Given the description of an element on the screen output the (x, y) to click on. 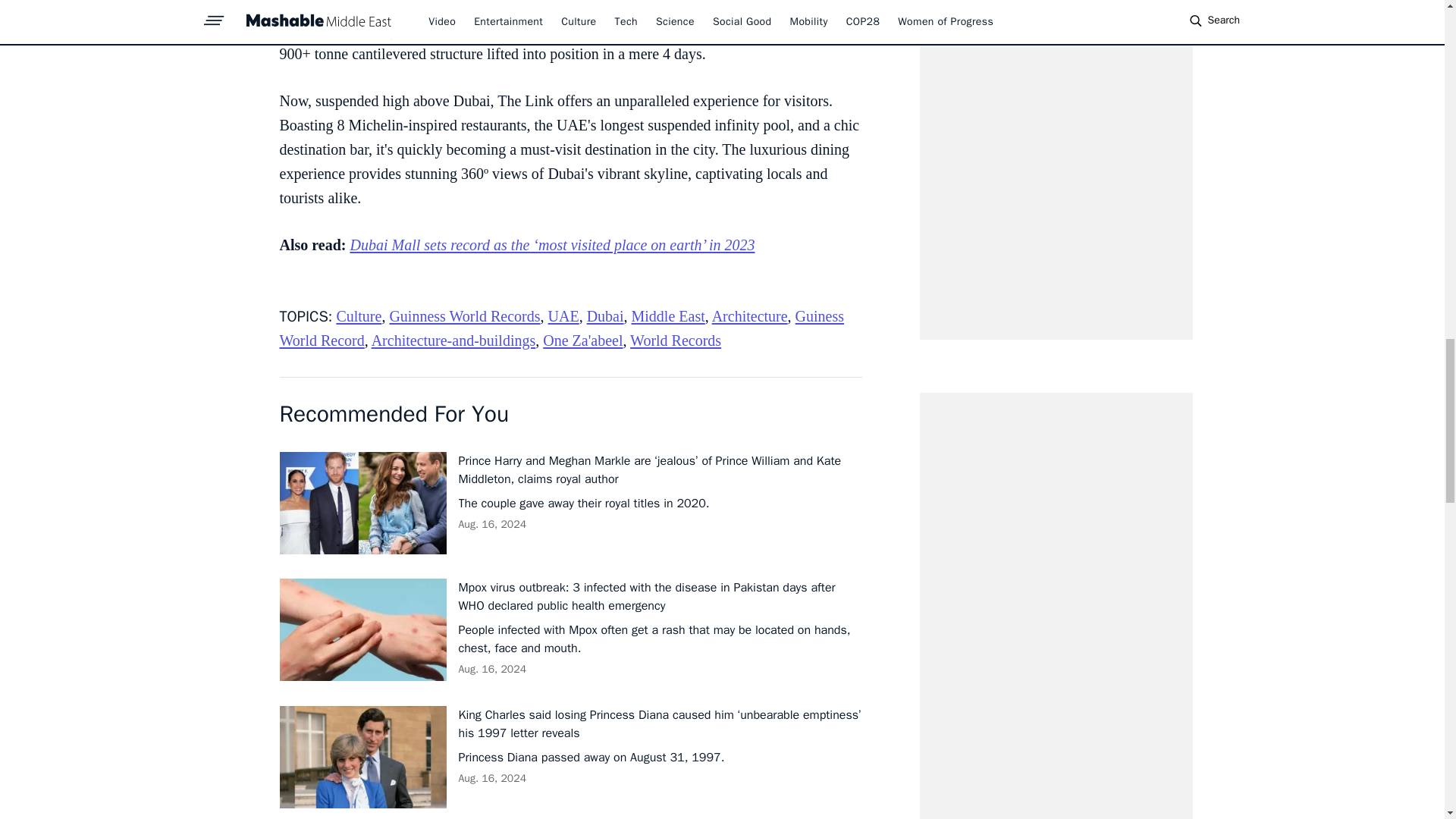
UAE (563, 315)
Guiness World Record (561, 327)
Architecture (749, 315)
Culture (358, 315)
Dubai (605, 315)
One Za'abeel (583, 340)
Architecture-and-buildings (453, 340)
Guinness World Records (464, 315)
Middle East (667, 315)
